Given the description of an element on the screen output the (x, y) to click on. 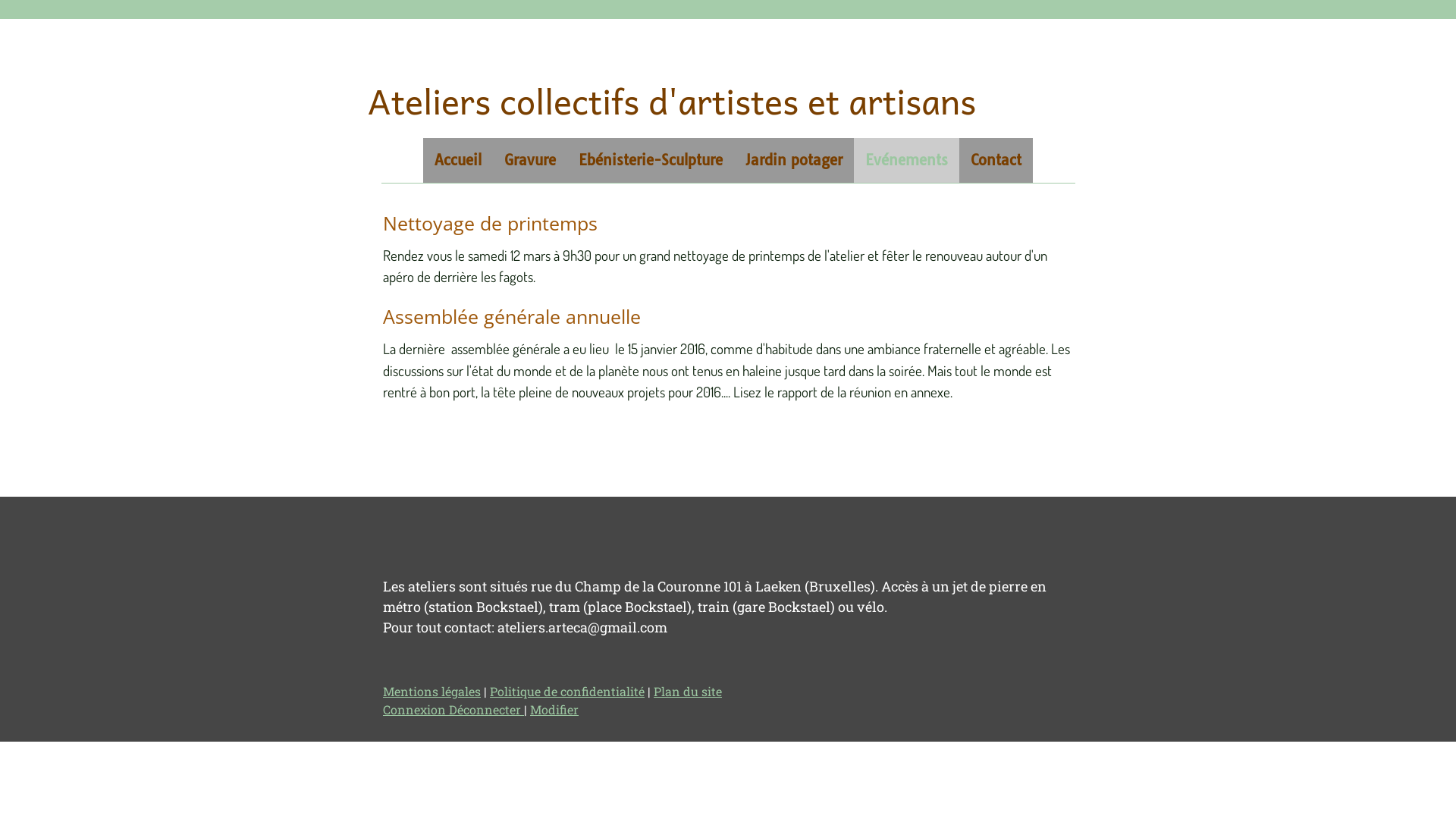
Modifier Element type: text (554, 709)
Contact Element type: text (995, 160)
Connexion Element type: text (415, 709)
Plan du site Element type: text (687, 691)
Accueil Element type: text (457, 160)
Ateliers collectifs d'artistes et artisans Element type: text (671, 109)
Gravure Element type: text (529, 160)
Jardin potager Element type: text (793, 160)
